Given the description of an element on the screen output the (x, y) to click on. 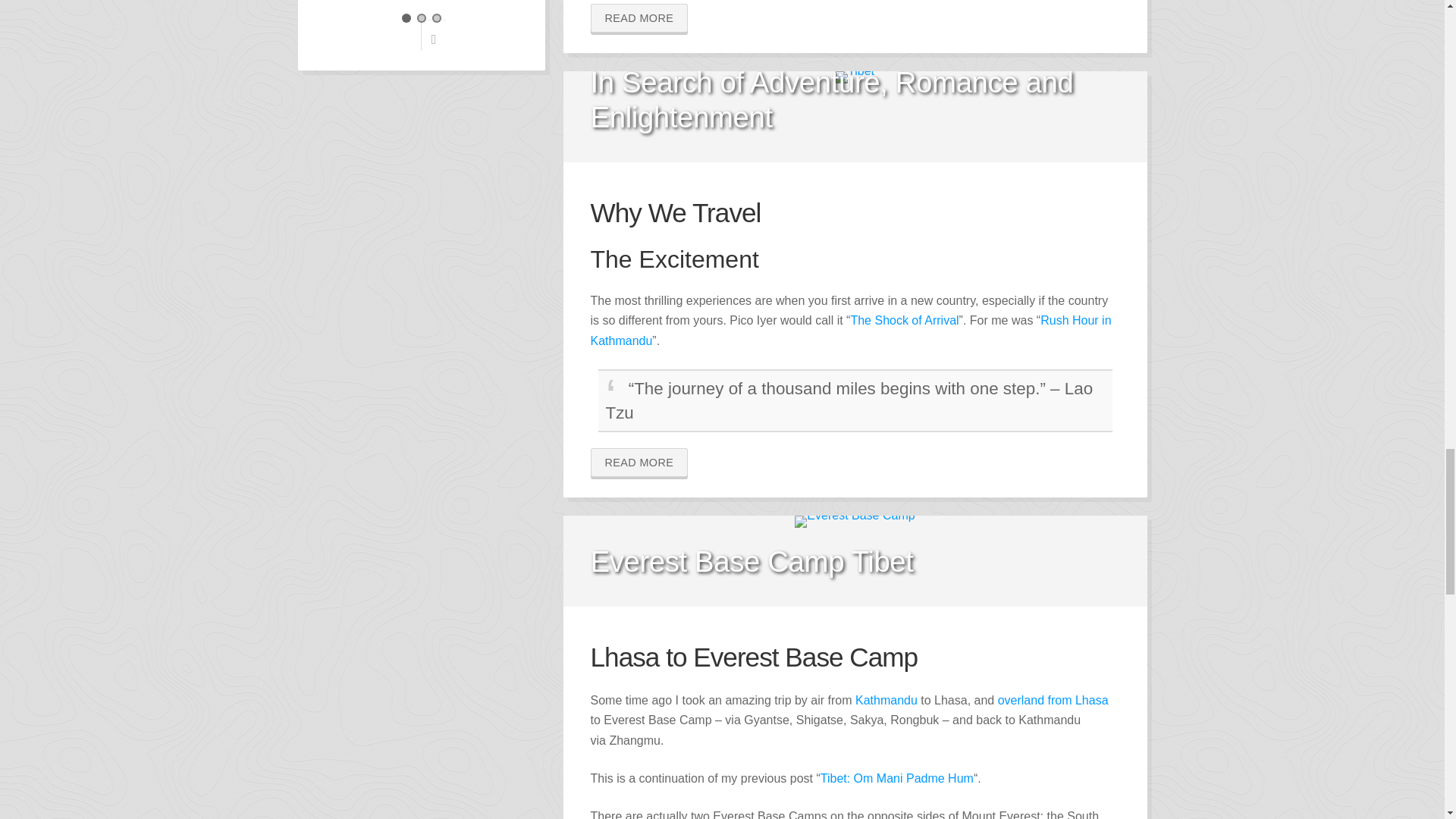
2 (421, 17)
1 (405, 17)
